Given the description of an element on the screen output the (x, y) to click on. 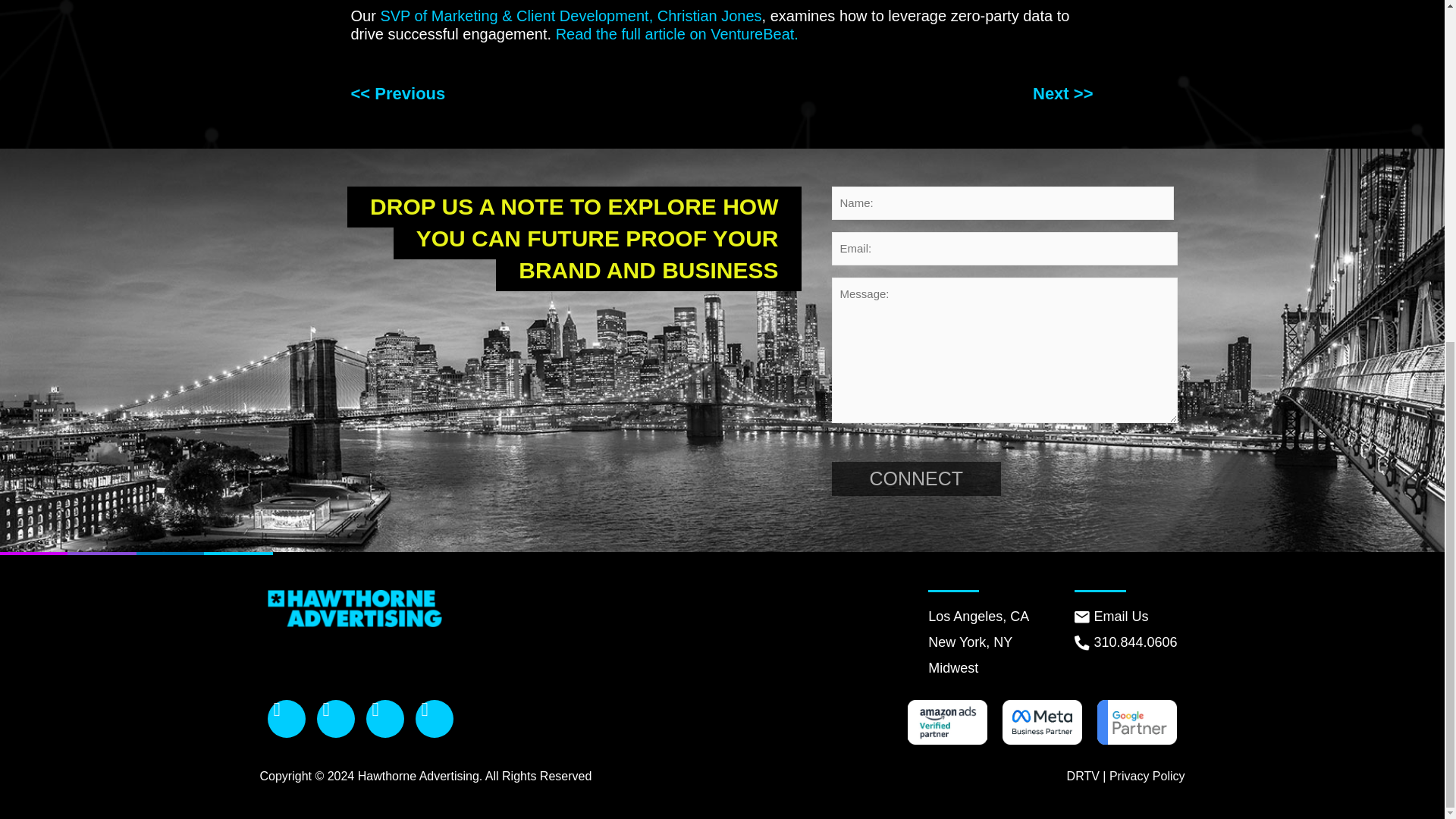
CONNECT (916, 478)
310.844.0606 (1125, 642)
Twitter (384, 718)
Email Us (1125, 616)
CONNECT (916, 478)
DRTV (1083, 775)
Linkedin-in (433, 718)
Instagram (336, 718)
Read the full article on VentureBeat. (676, 33)
Privacy Policy (1147, 775)
